Given the description of an element on the screen output the (x, y) to click on. 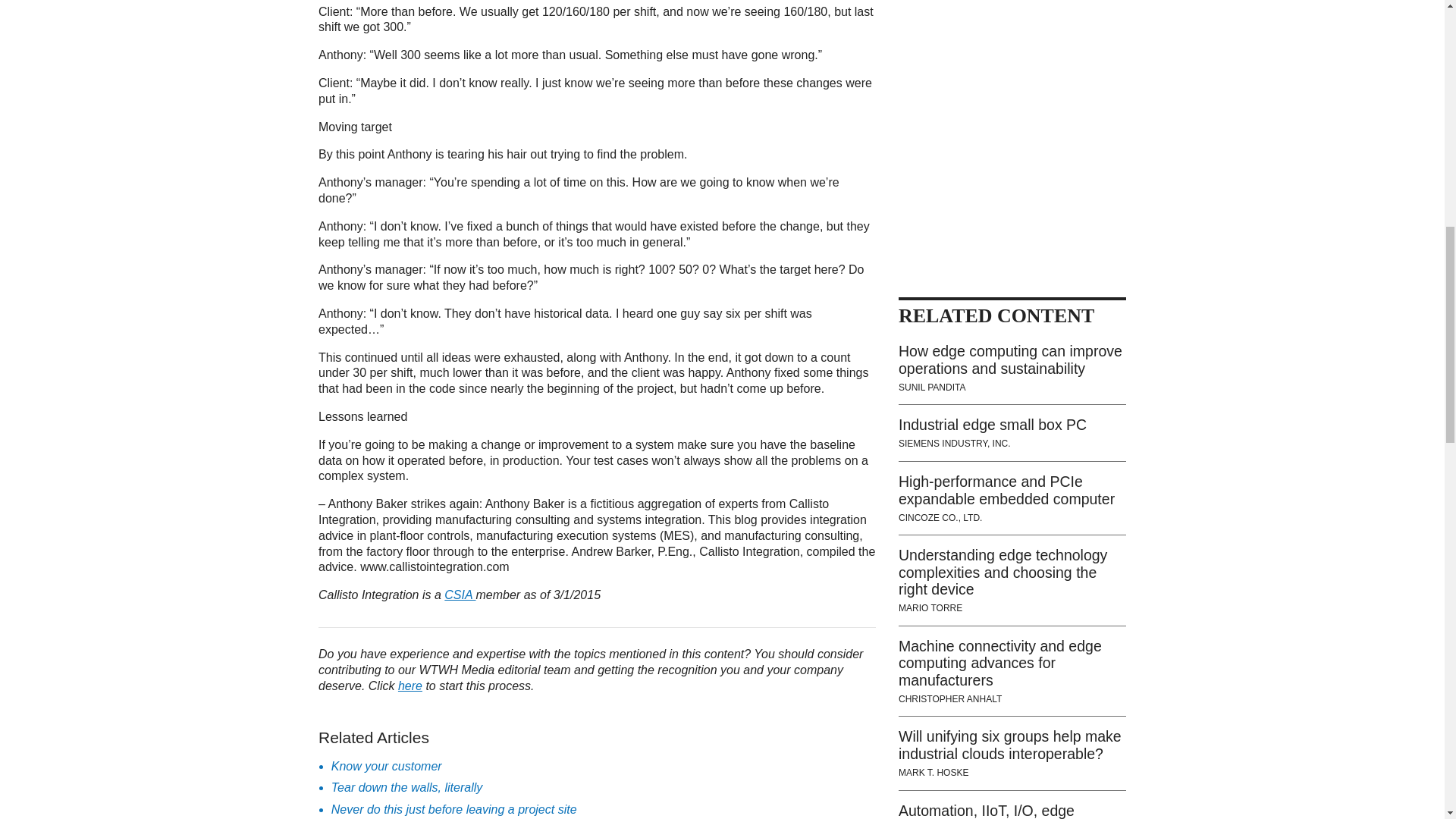
How to Contribute (409, 685)
